Given the description of an element on the screen output the (x, y) to click on. 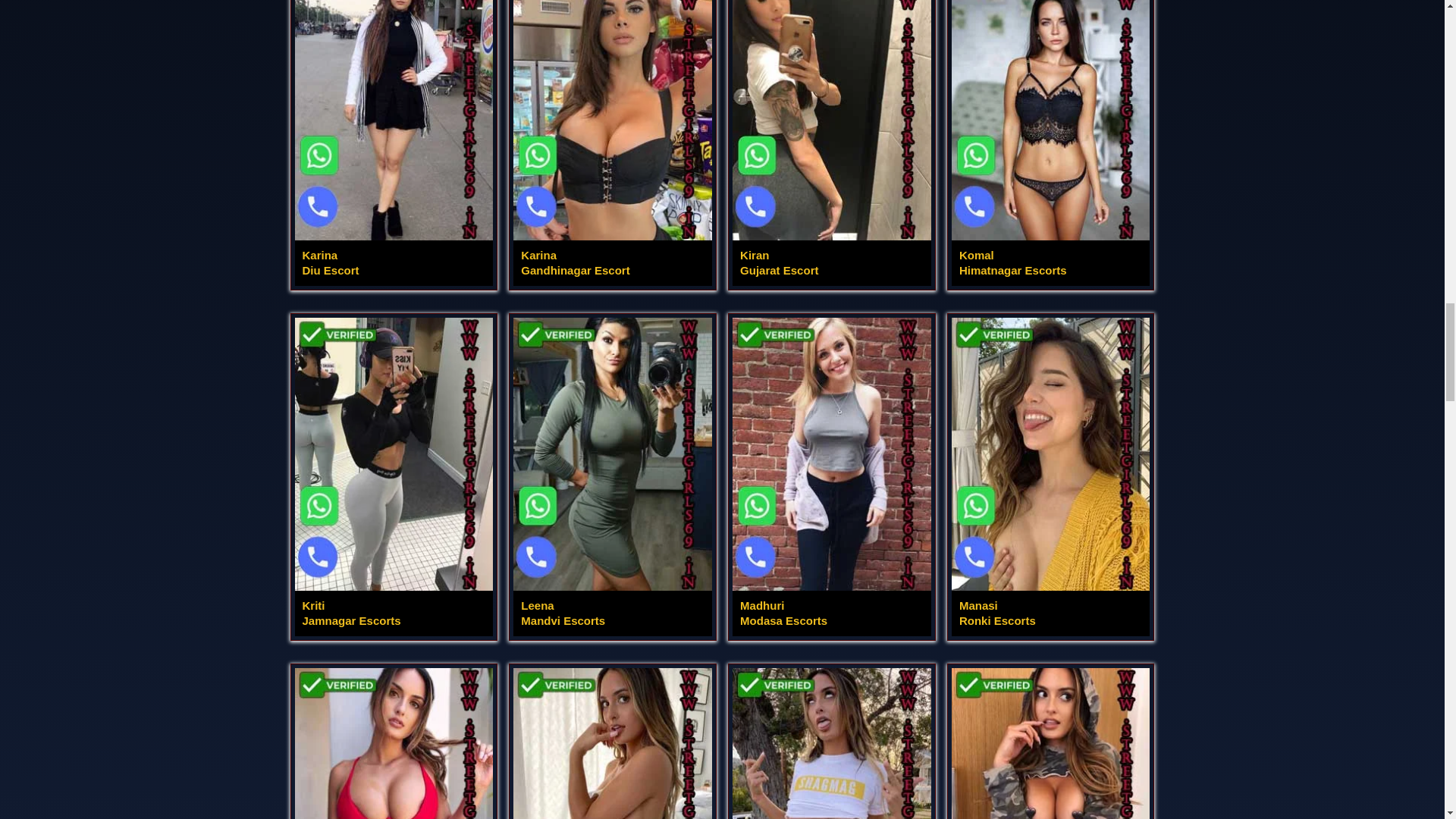
gandhinagar Escorts (831, 142)
diu Escorts (612, 142)
